Given the description of an element on the screen output the (x, y) to click on. 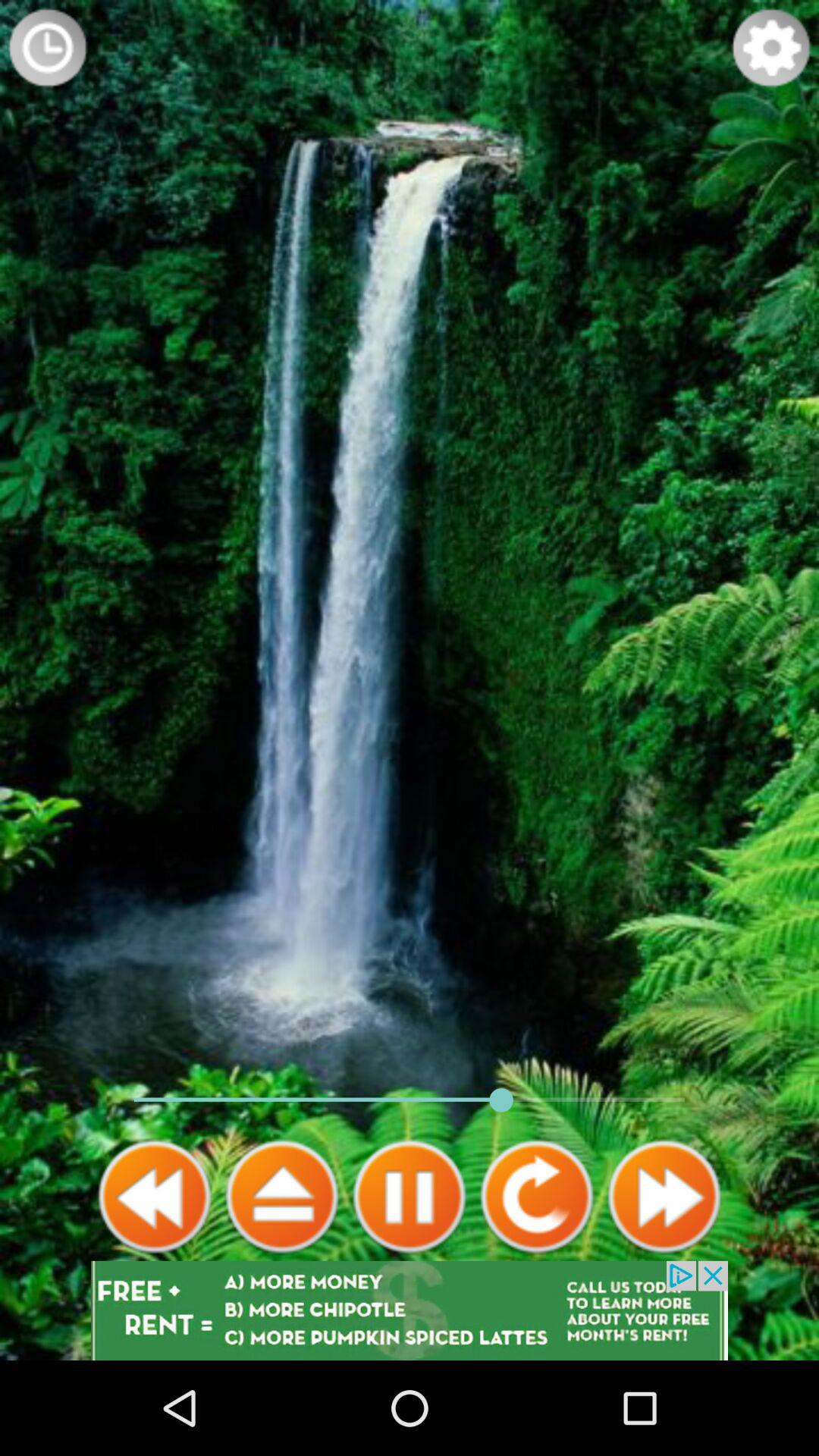
rewind (154, 1196)
